Given the description of an element on the screen output the (x, y) to click on. 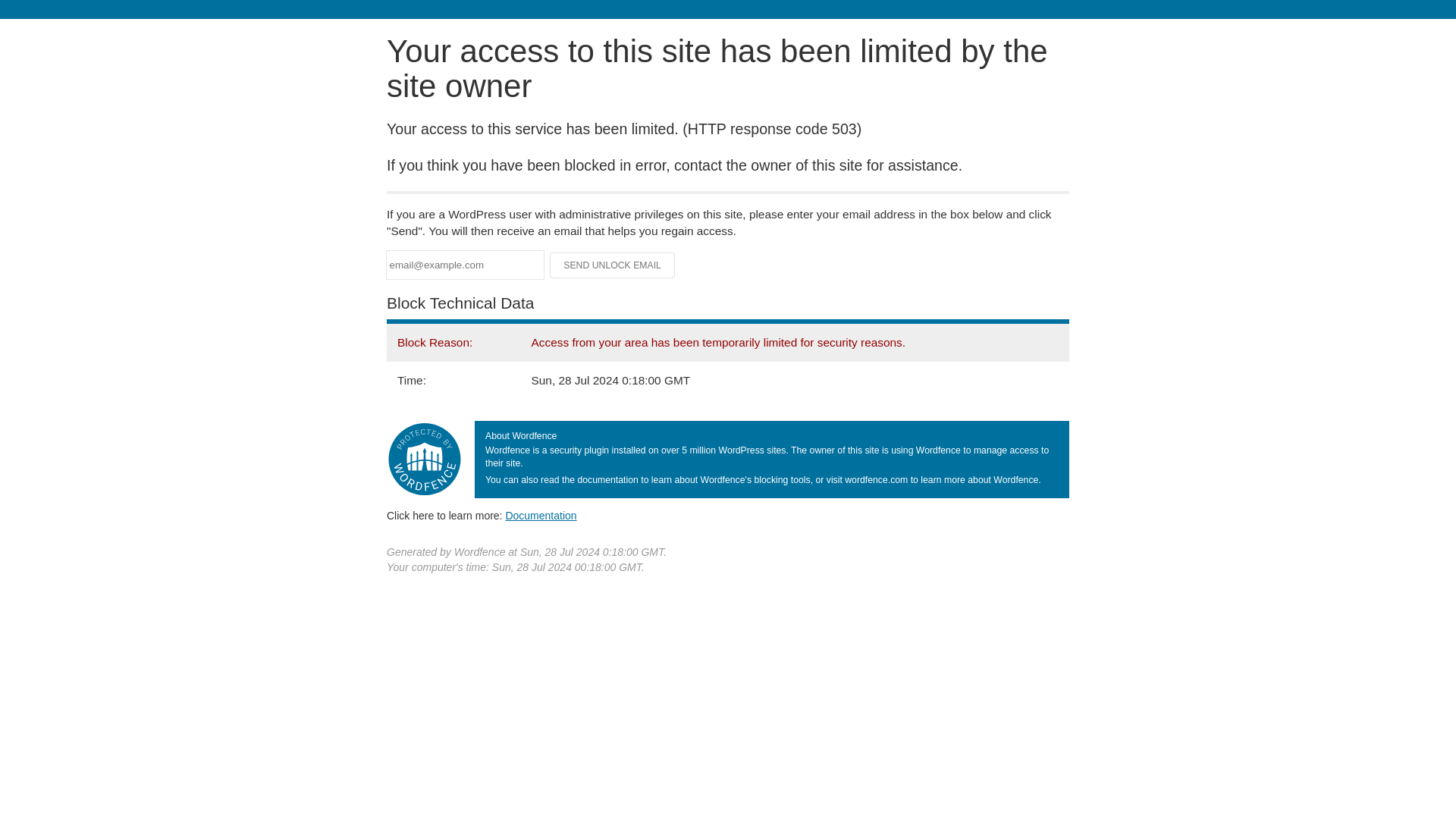
Send Unlock Email (612, 265)
Documentation (540, 515)
Send Unlock Email (612, 265)
